Given the description of an element on the screen output the (x, y) to click on. 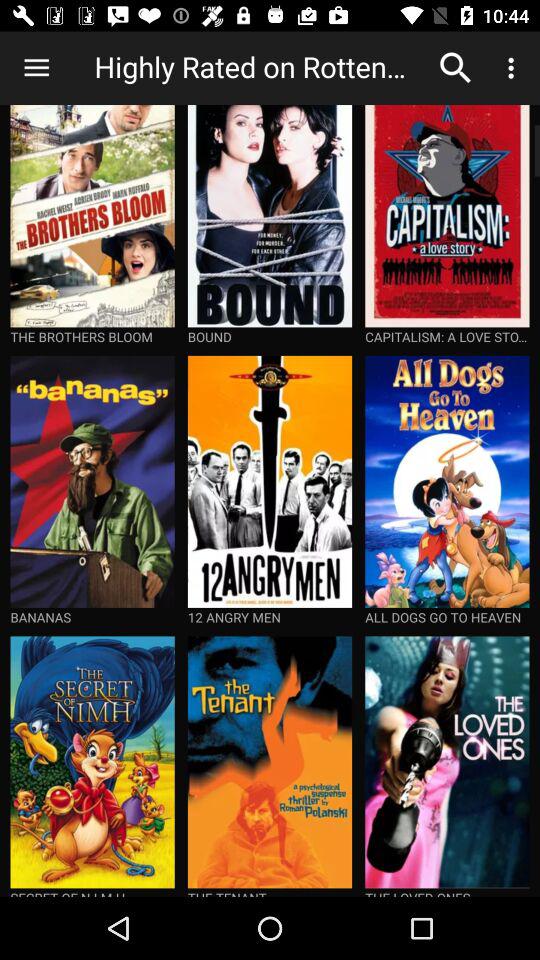
scroll until the highly rated on item (259, 68)
